Given the description of an element on the screen output the (x, y) to click on. 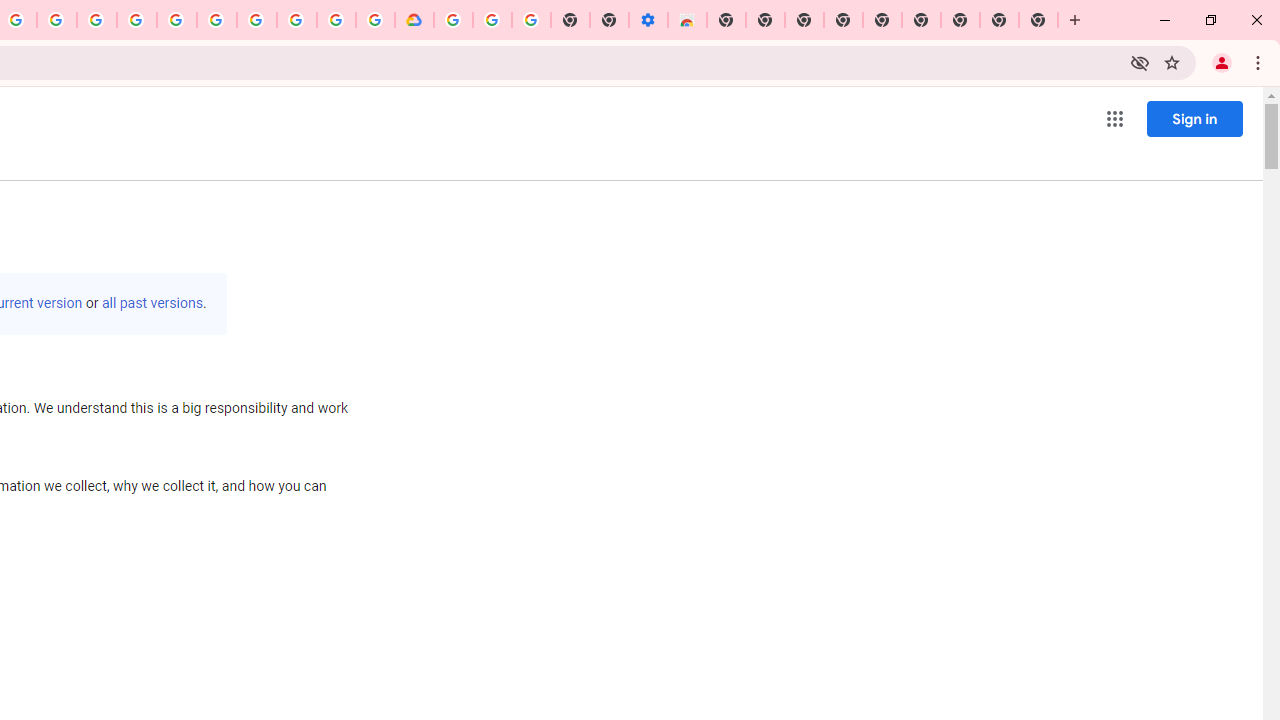
Turn cookies on or off - Computer - Google Account Help (531, 20)
Sign in - Google Accounts (177, 20)
Settings - Accessibility (648, 20)
New Tab (726, 20)
Create your Google Account (56, 20)
Ad Settings (136, 20)
Google Account Help (491, 20)
all past versions (152, 303)
